Given the description of an element on the screen output the (x, y) to click on. 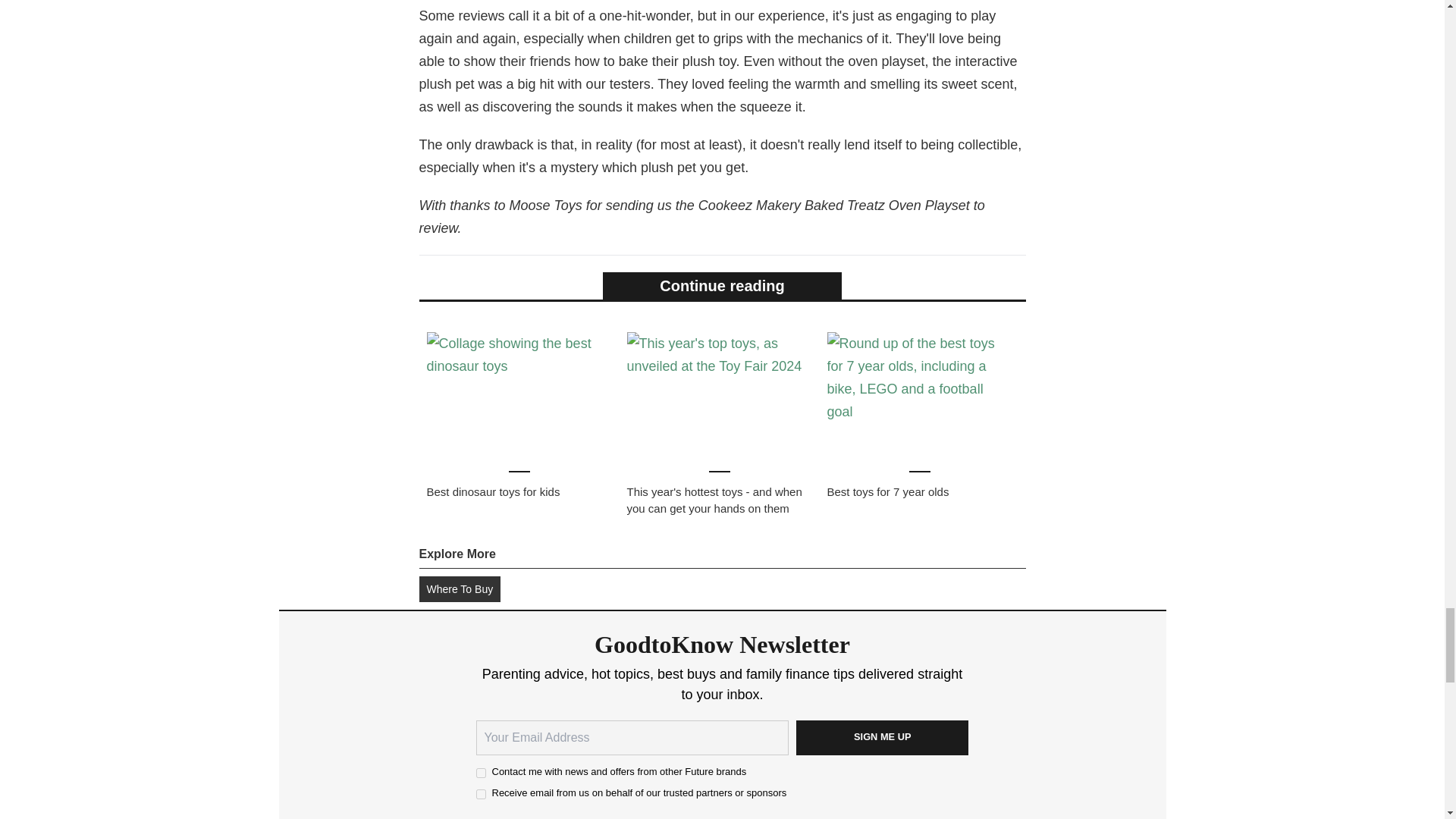
on (481, 773)
Sign me up (882, 737)
on (481, 794)
